Given the description of an element on the screen output the (x, y) to click on. 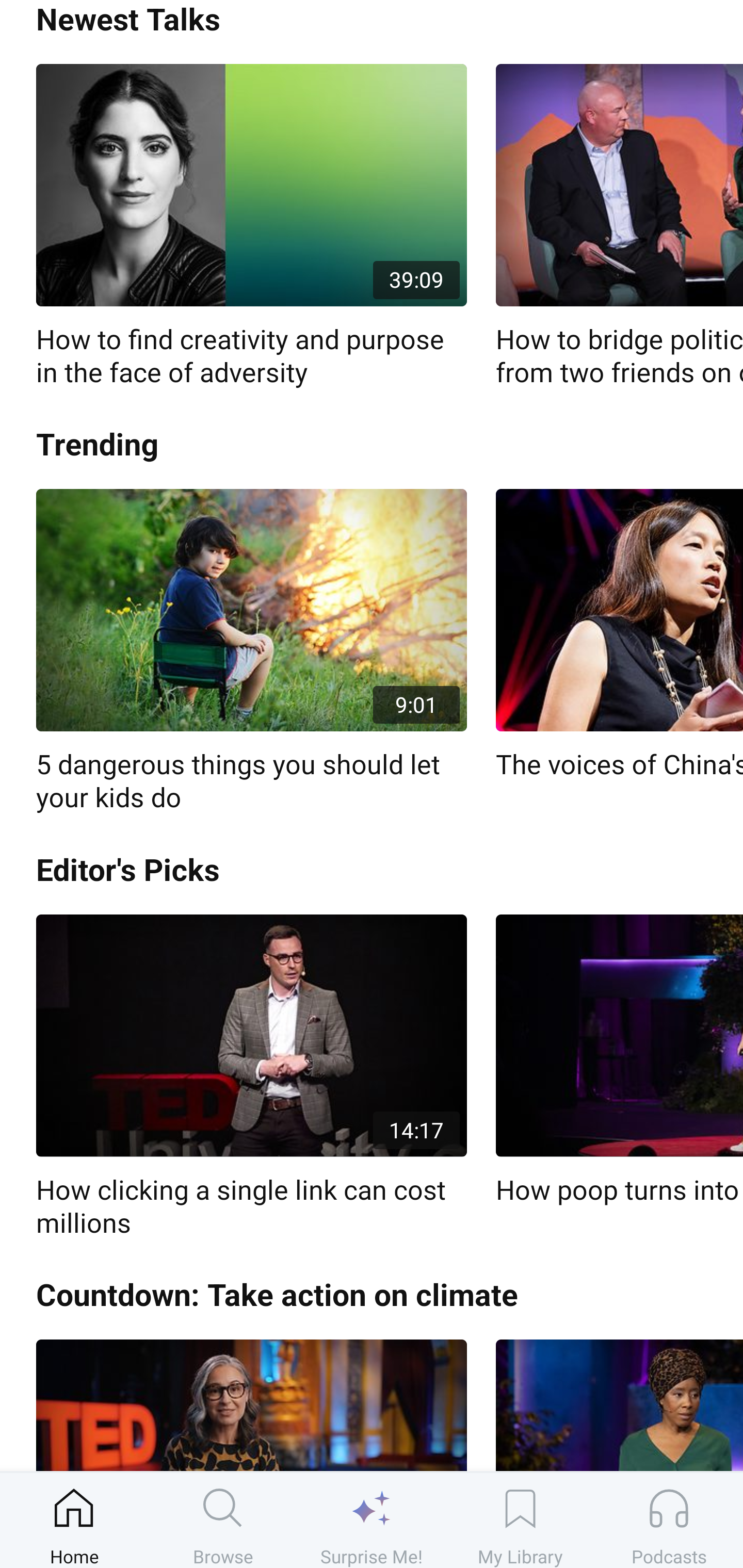
The voices of China's workers (619, 635)
14:17 How clicking a single link can cost millions (251, 1077)
How poop turns into forests (619, 1060)
Home (74, 1520)
Browse (222, 1520)
Surprise Me! (371, 1520)
My Library (519, 1520)
Podcasts (668, 1520)
